Given the description of an element on the screen output the (x, y) to click on. 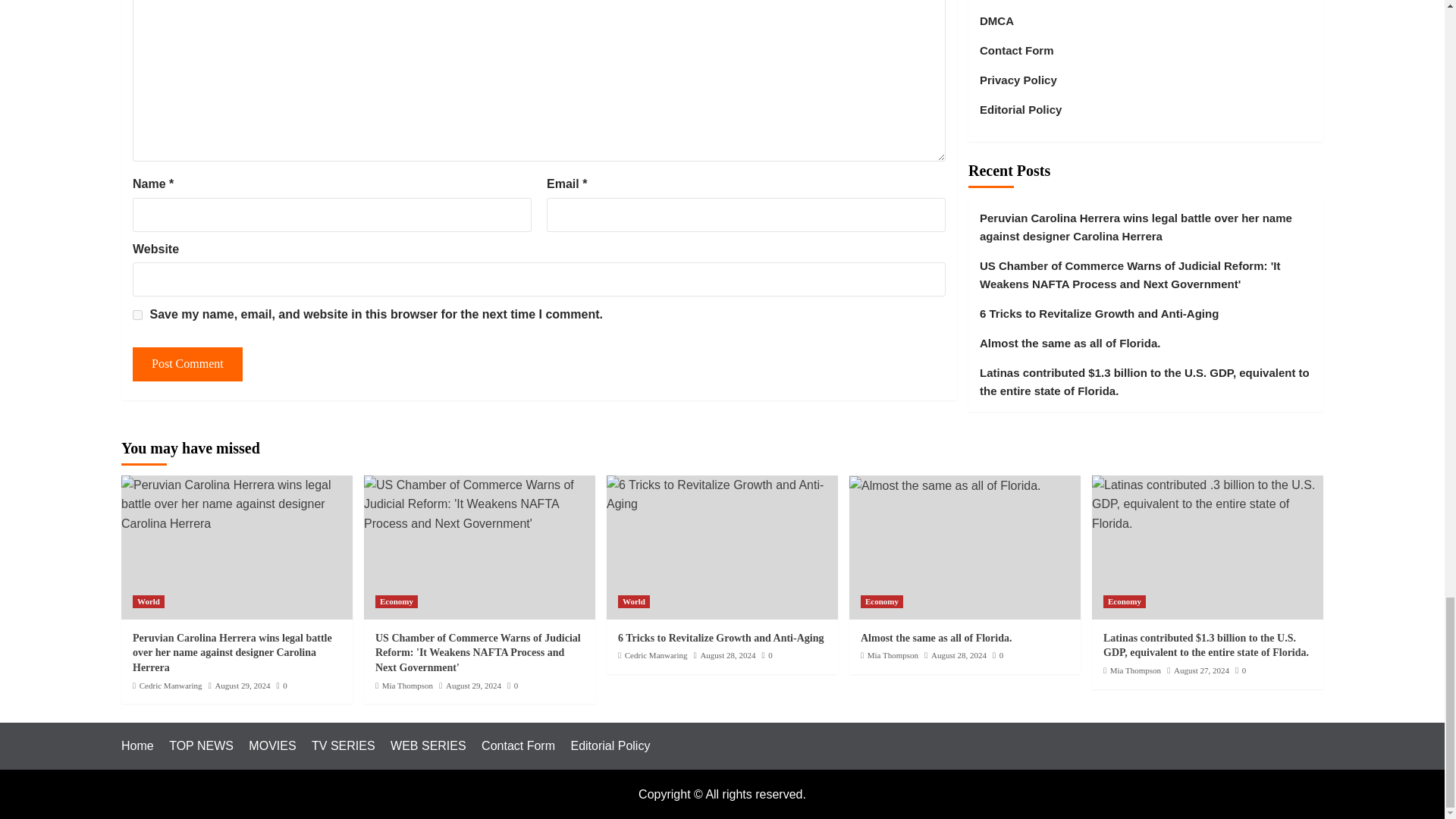
yes (137, 315)
Post Comment (187, 364)
Almost the same as all of Florida. (944, 485)
6 Tricks to Revitalize Growth and Anti-Aging (722, 494)
